Given the description of an element on the screen output the (x, y) to click on. 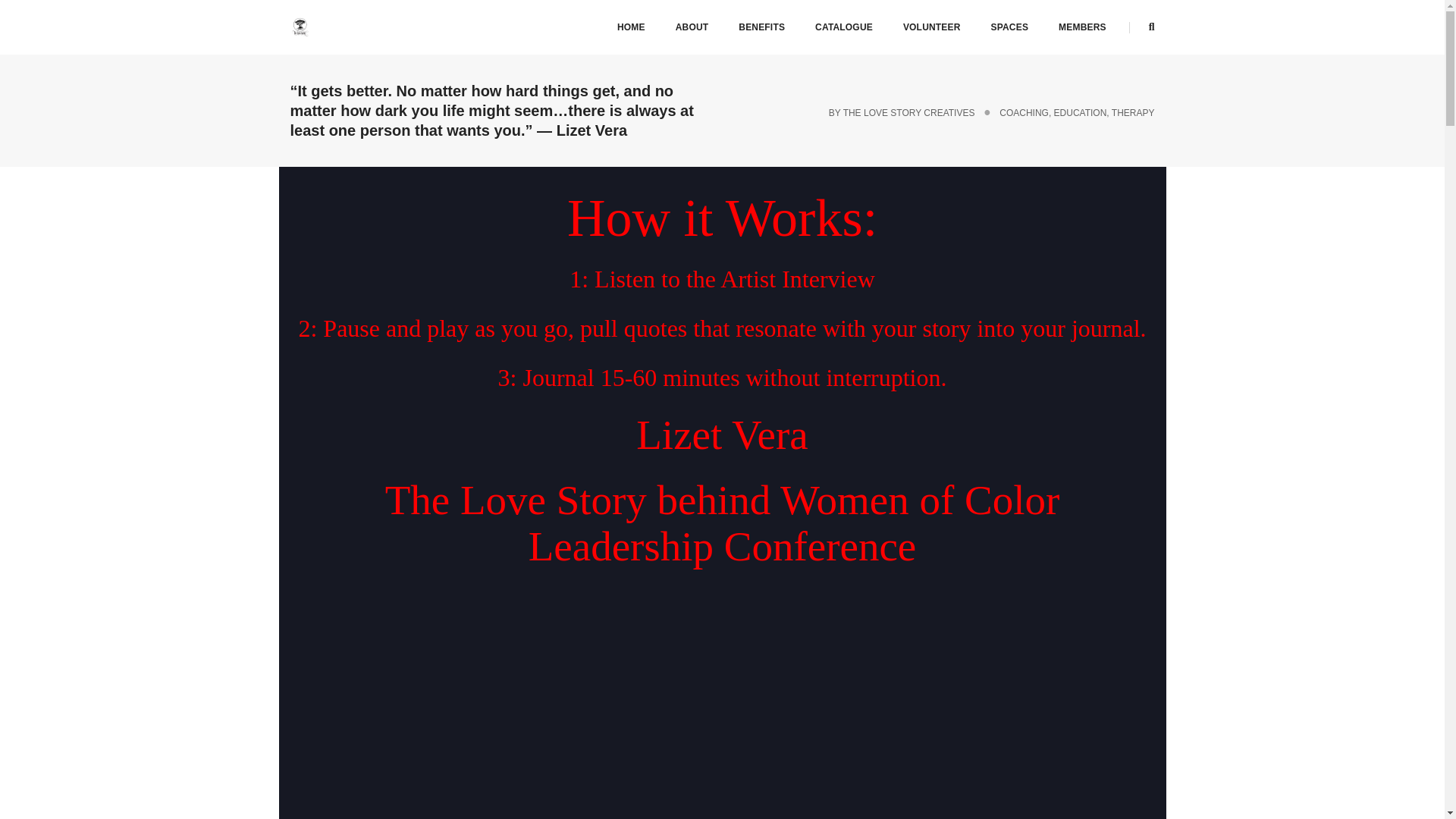
COACHING (1023, 112)
THERAPY (1133, 112)
EDUCATION (1080, 112)
THE LOVE STORY CREATIVES (909, 112)
The Love Story (298, 26)
VOLUNTEER (931, 27)
CATALOGUE (843, 27)
